Given the description of an element on the screen output the (x, y) to click on. 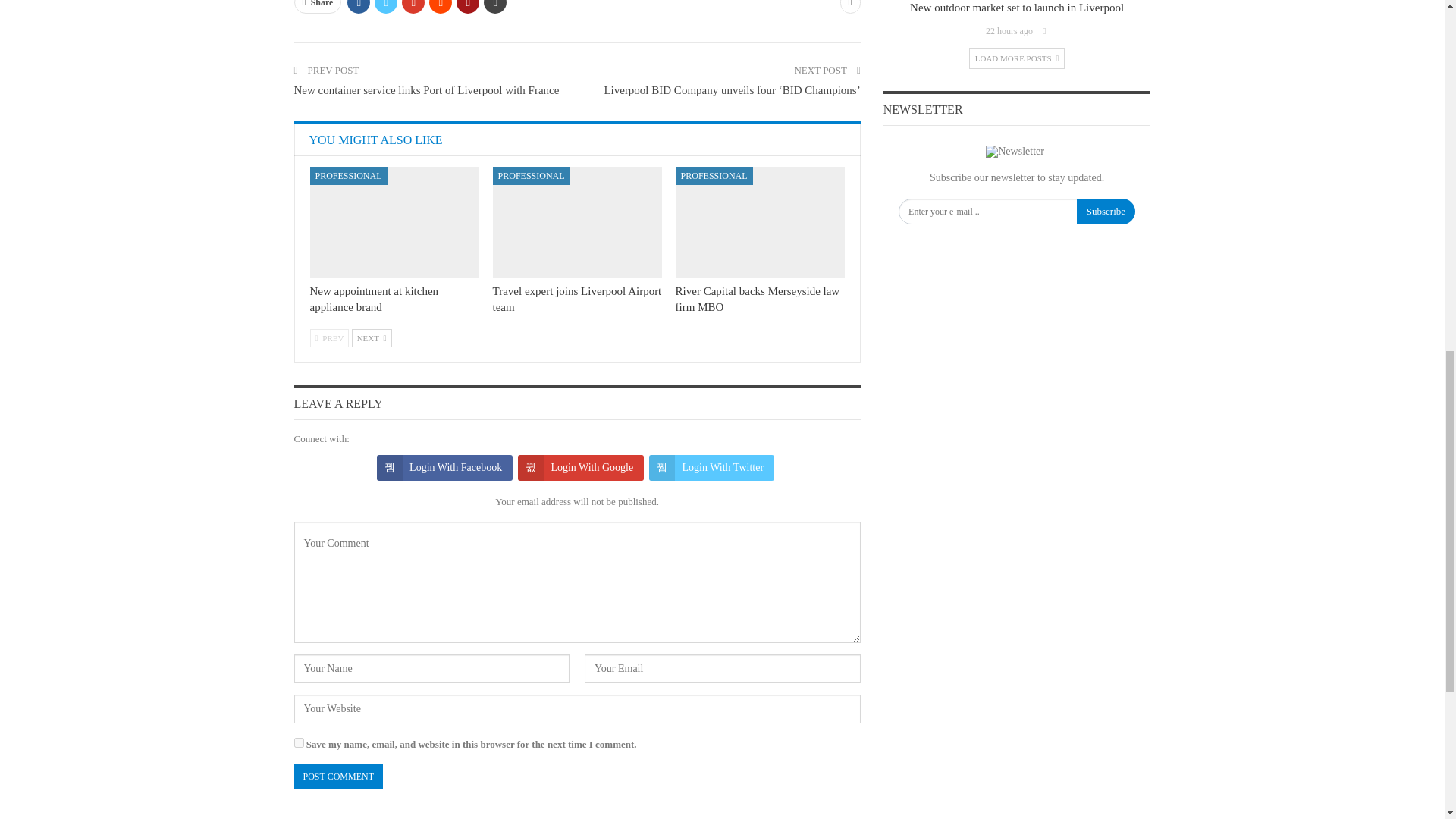
Travel expert joins Liverpool Airport team (577, 222)
Post Comment (338, 776)
River Capital backs Merseyside law firm MBO (759, 222)
Previous (328, 338)
Next (371, 338)
yes (299, 742)
